Given the description of an element on the screen output the (x, y) to click on. 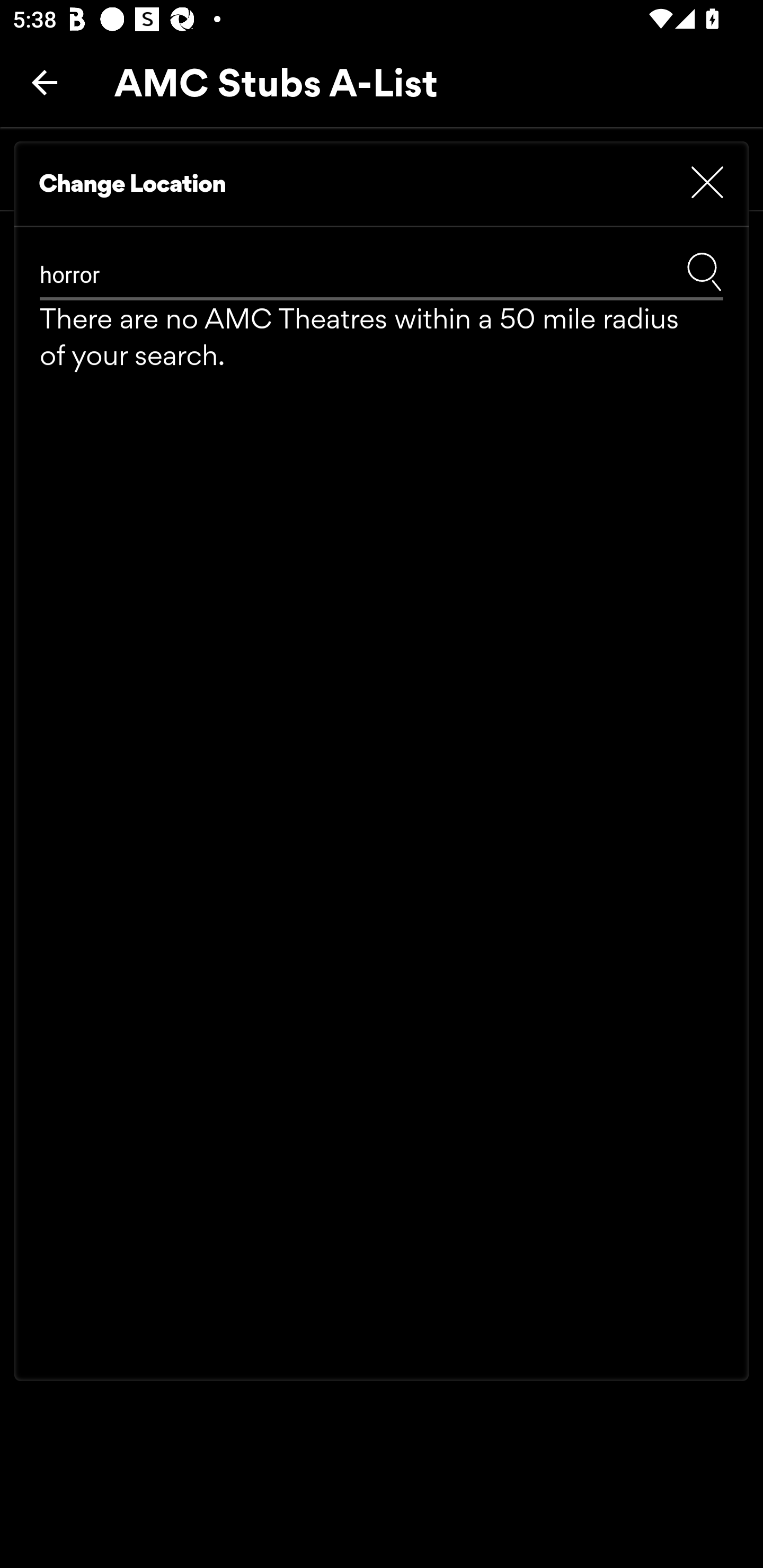
Back (44, 82)
close (707, 183)
horror (314, 274)
Submit Search (704, 271)
